Given the description of an element on the screen output the (x, y) to click on. 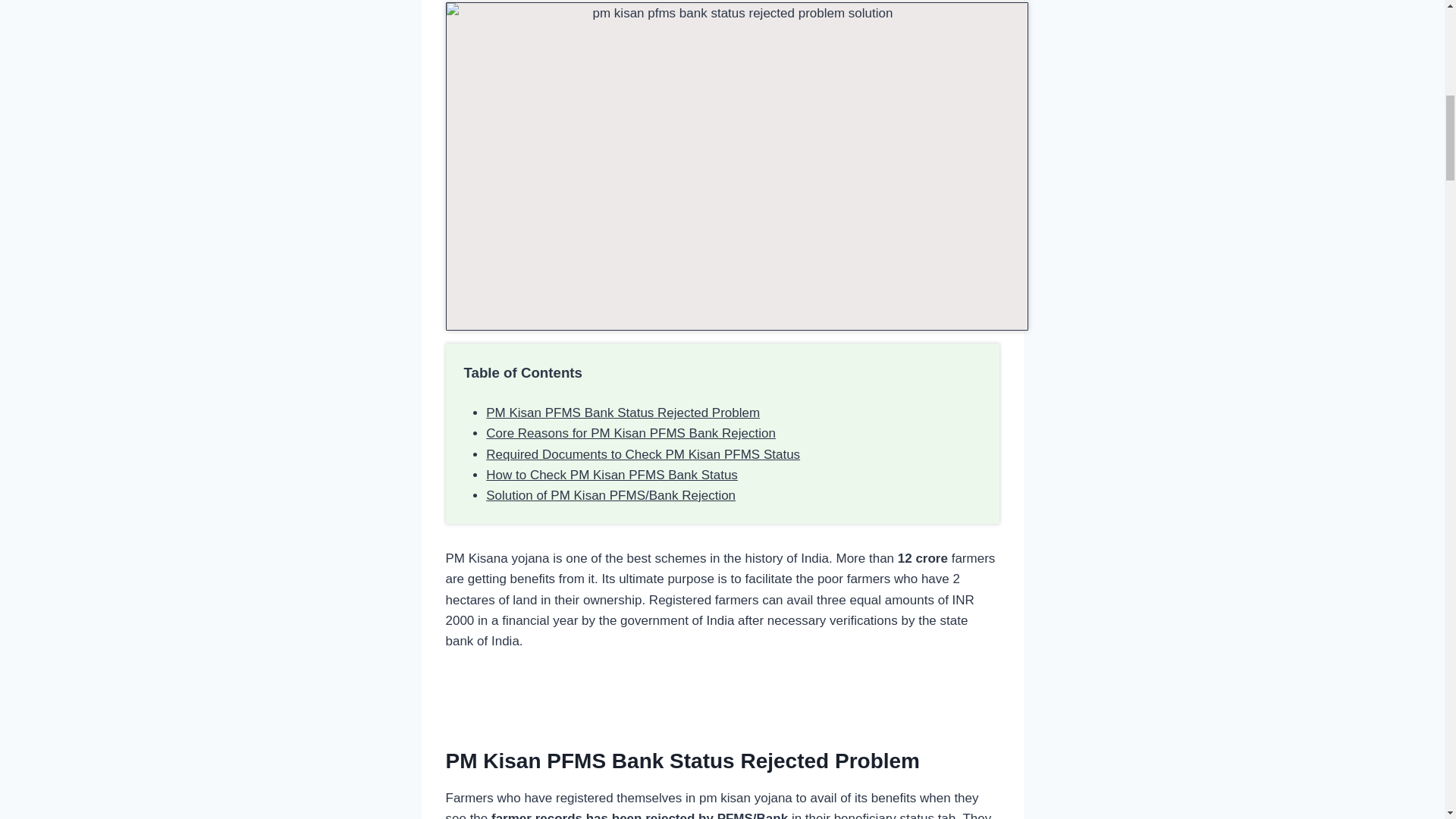
Required Documents to Check PM Kisan PFMS Status (642, 454)
PM Kisan PFMS Bank Status Rejected Problem (623, 412)
How to Check PM Kisan PFMS Bank Status (612, 474)
Core Reasons for PM Kisan PFMS Bank Rejection (631, 432)
